Given the description of an element on the screen output the (x, y) to click on. 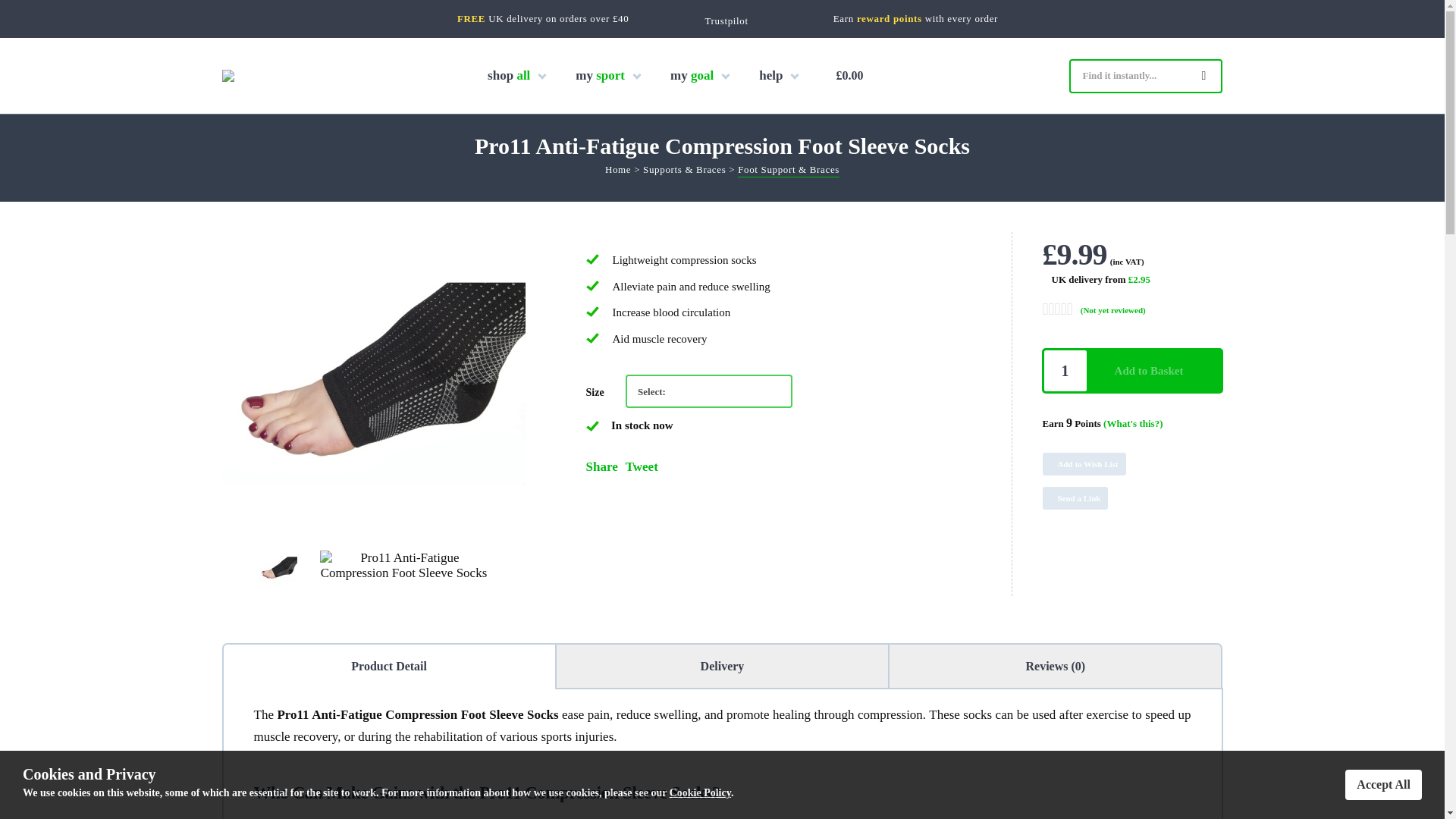
Send a Link (1075, 497)
Click for details (1100, 279)
1 (1064, 370)
In stock now (591, 425)
Add to Wish List (1083, 463)
Zoom (372, 383)
Home (617, 170)
Send a link (1132, 492)
Save for later (1132, 458)
Delivery (722, 666)
